Given the description of an element on the screen output the (x, y) to click on. 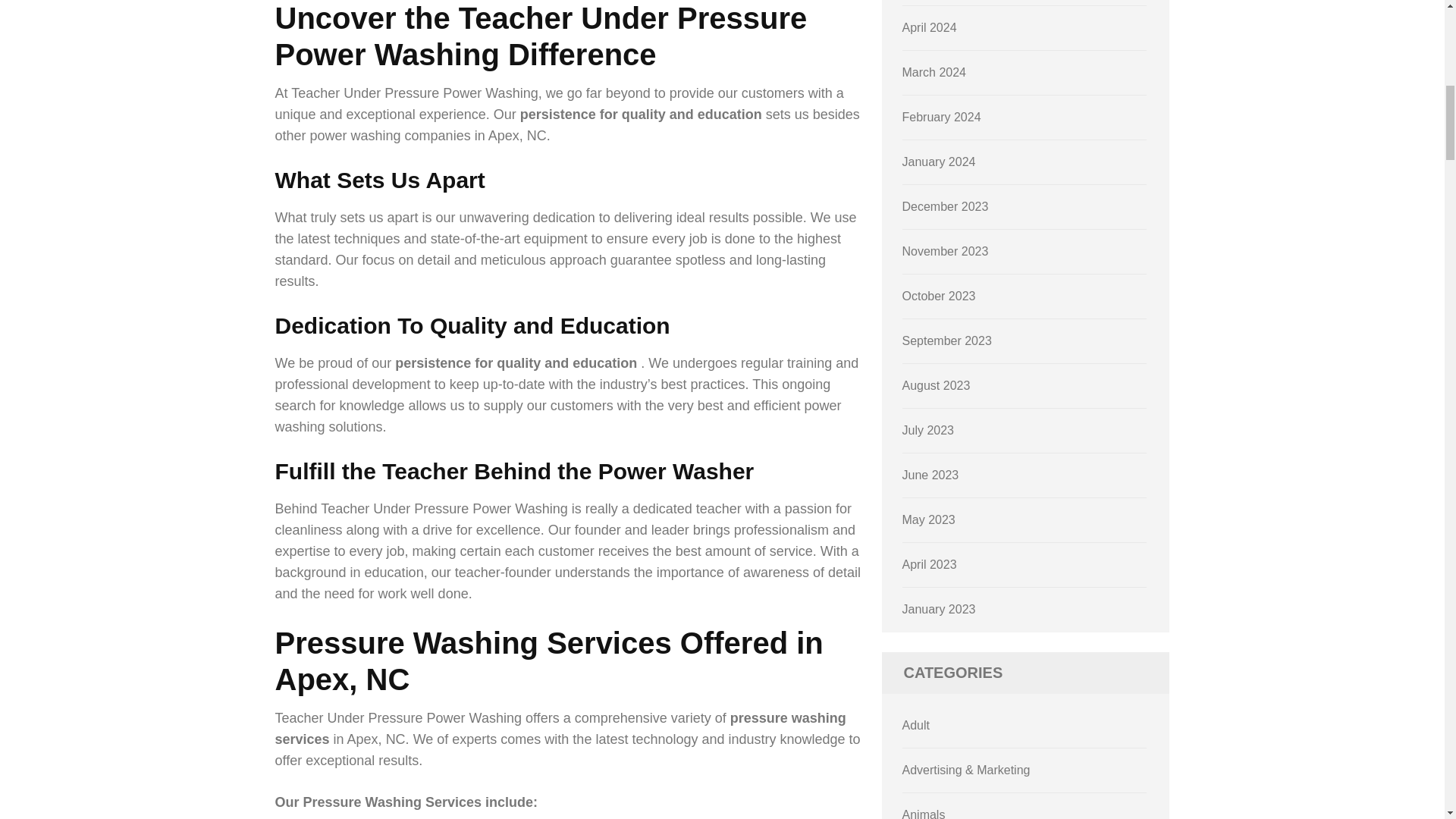
January 2023 (938, 608)
October 2023 (938, 295)
March 2024 (934, 72)
February 2024 (941, 116)
June 2023 (930, 474)
August 2023 (936, 385)
July 2023 (928, 430)
December 2023 (945, 205)
April 2024 (929, 27)
November 2023 (945, 250)
April 2023 (929, 563)
January 2024 (938, 161)
May 2023 (928, 519)
September 2023 (946, 340)
Adult (916, 725)
